Given the description of an element on the screen output the (x, y) to click on. 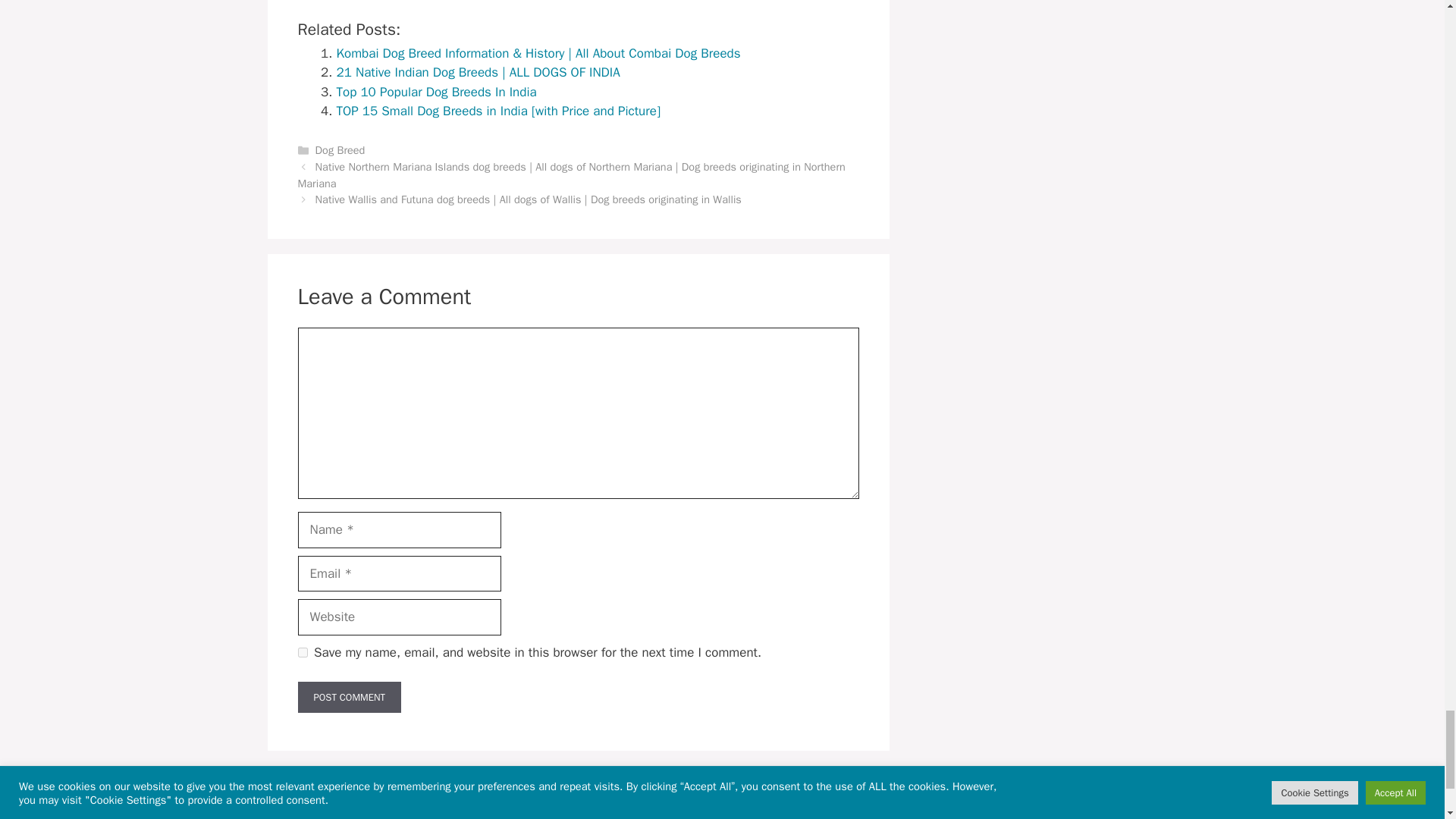
yes (302, 652)
Post Comment (349, 697)
